Given the description of an element on the screen output the (x, y) to click on. 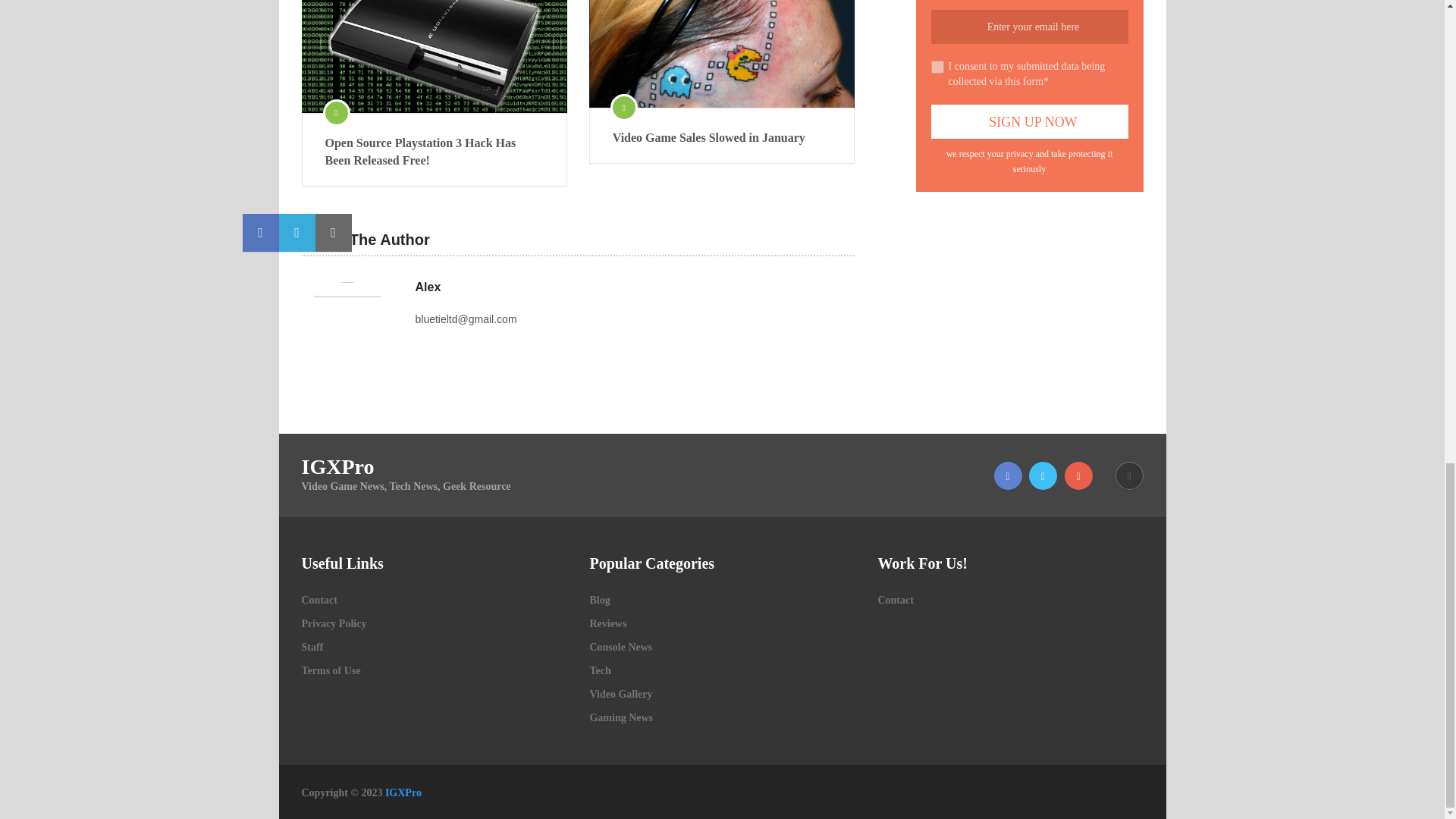
Open Source Playstation 3 Hack Has Been Released Free! (434, 56)
 Video Game News, Tech News, Geek Resource (403, 792)
Sign Up Now (1029, 121)
on (937, 66)
Video Game Sales Slowed in January (721, 137)
Open Source Playstation 3 Hack Has Been Released Free! (433, 151)
Video Game Sales Slowed in January (721, 53)
